Given the description of an element on the screen output the (x, y) to click on. 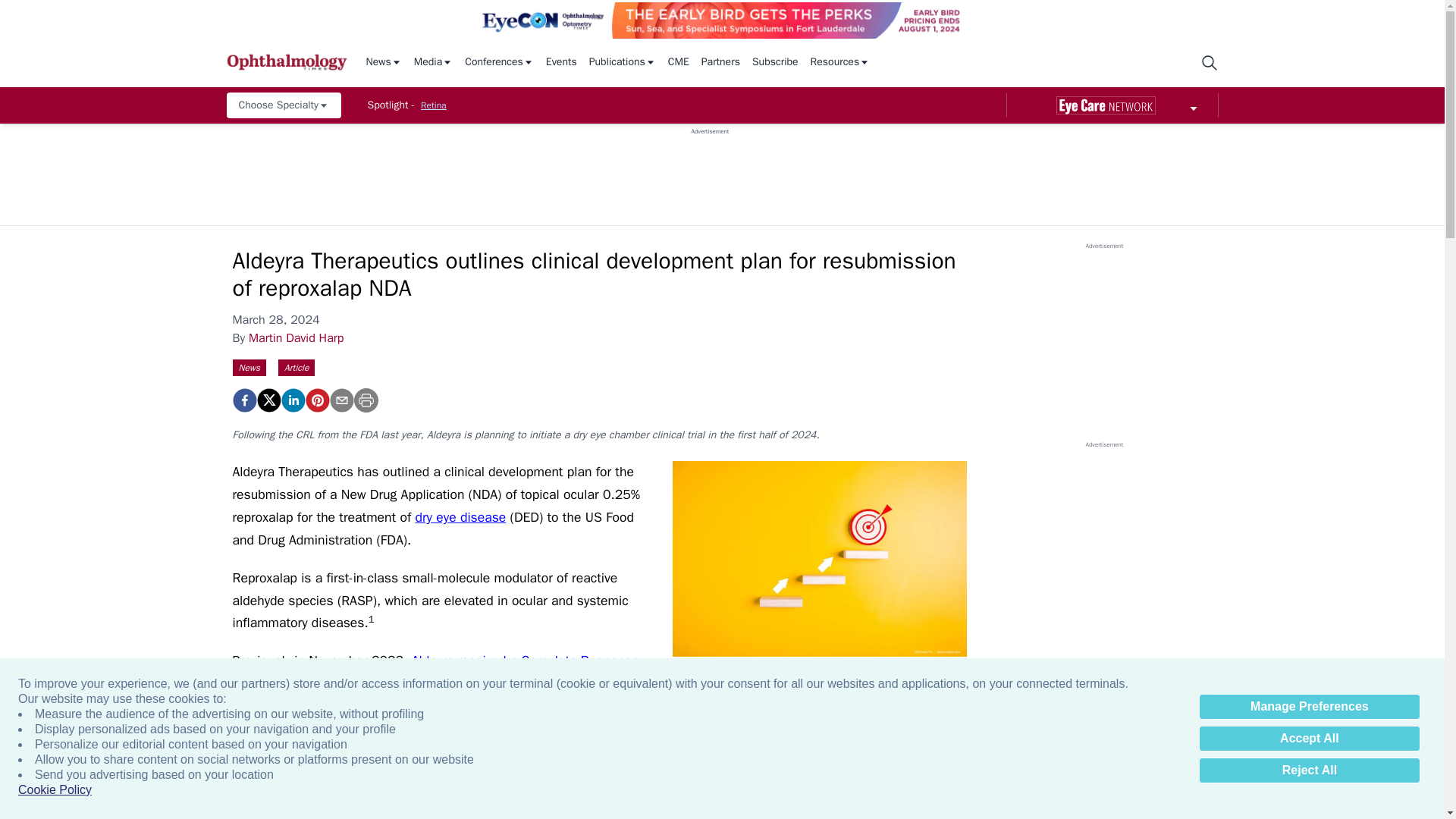
Cookie Policy (54, 789)
Events (561, 62)
Accept All (1309, 738)
News (383, 62)
Publications (622, 62)
Conferences (499, 62)
3rd party ad content (709, 169)
CME (678, 62)
Manage Preferences (1309, 706)
Reject All (1309, 769)
Media (432, 62)
